Given the description of an element on the screen output the (x, y) to click on. 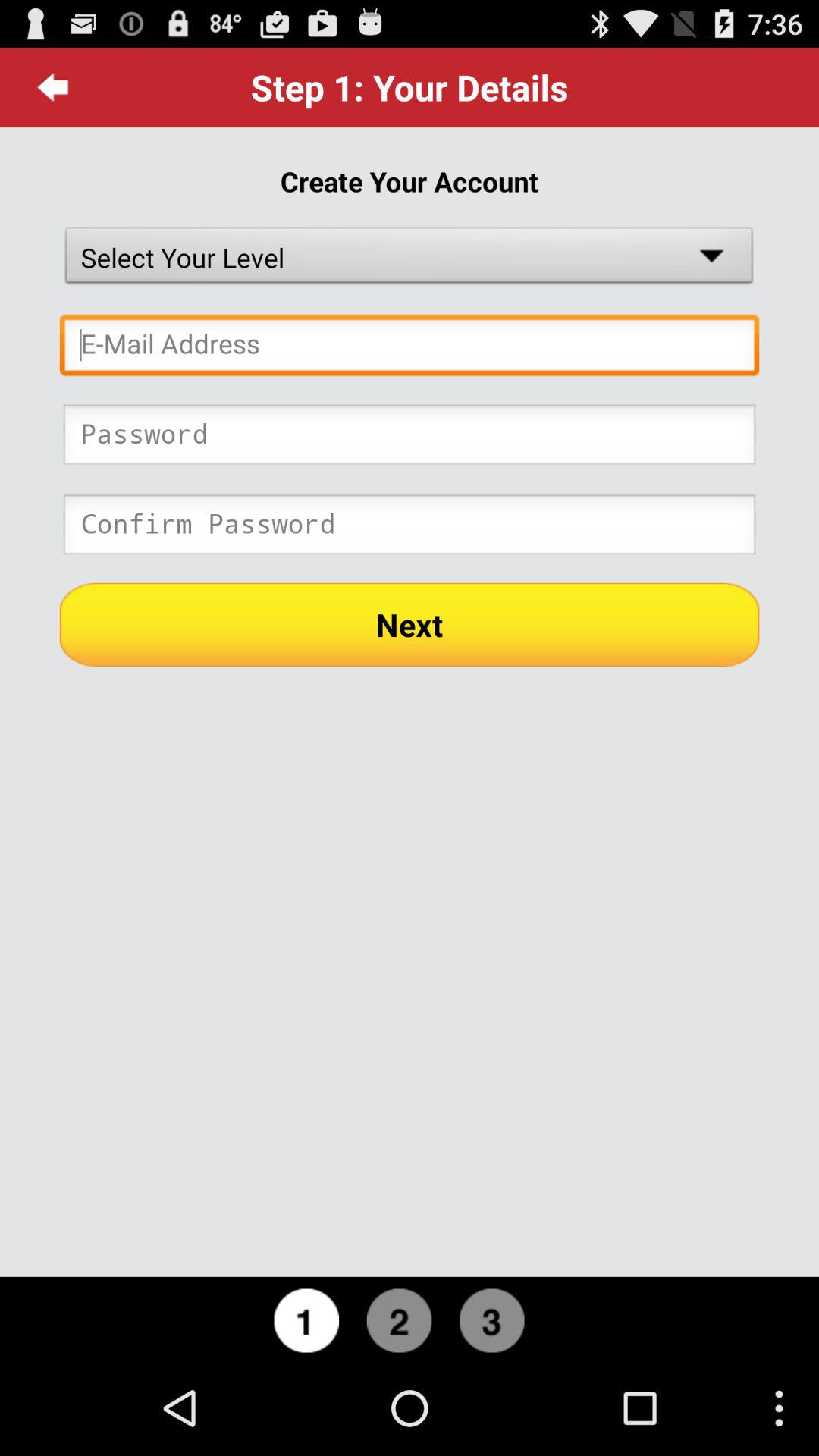
select icon to the left of the step 1 your item (53, 87)
